Given the description of an element on the screen output the (x, y) to click on. 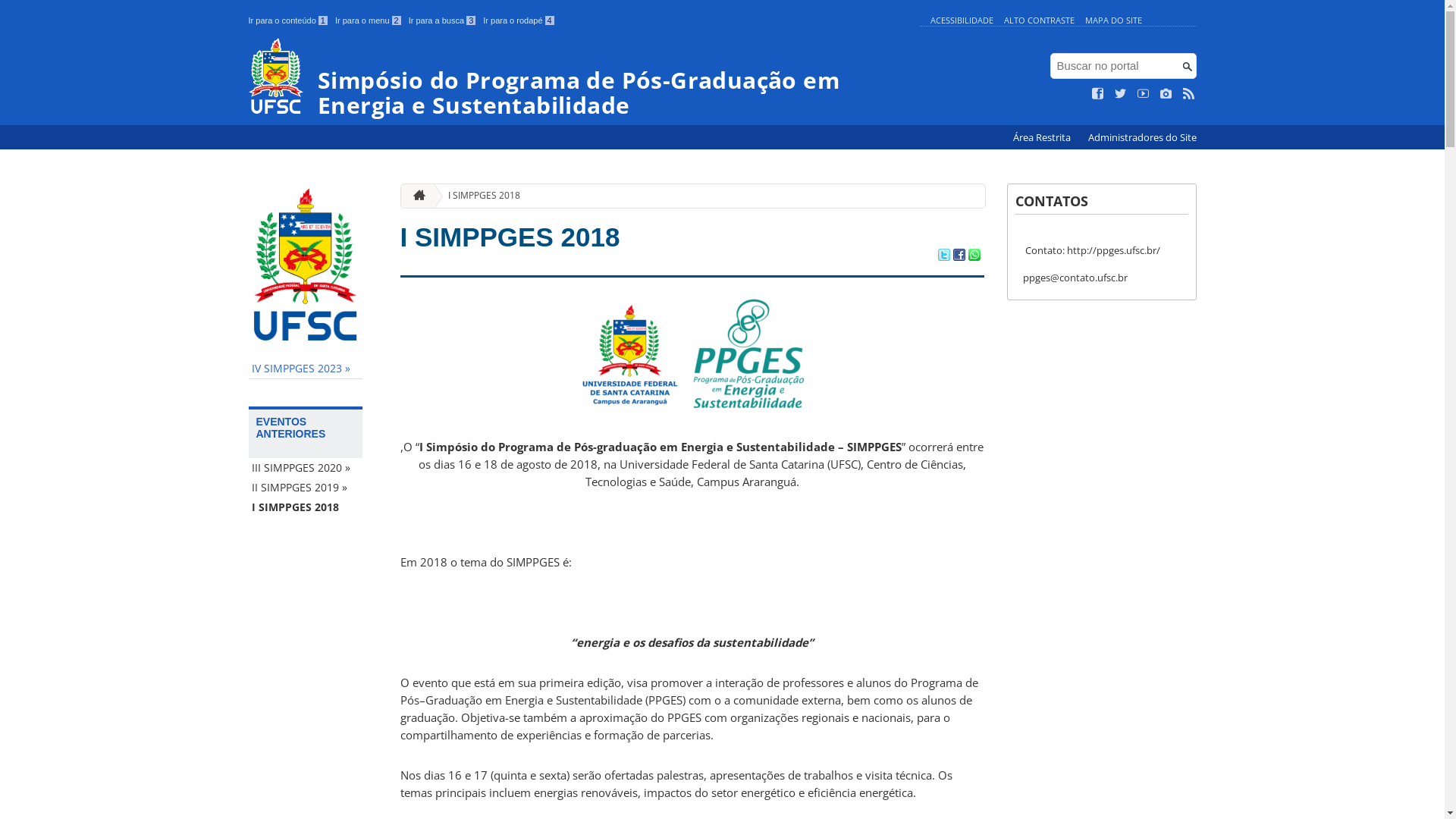
Ir para a busca 3 Element type: text (442, 20)
Veja no Instagram Element type: hover (1166, 93)
I SIMPPGES 2018 Element type: text (305, 507)
MAPA DO SITE Element type: text (1112, 19)
Siga no Twitter Element type: hover (1120, 93)
Compartilhar no Twitter Element type: hover (943, 255)
Compartilhar no Facebook Element type: hover (958, 255)
Compartilhar no WhatsApp Element type: hover (973, 255)
ACESSIBILIDADE Element type: text (960, 19)
I SIMPPGES 2018 Element type: text (477, 195)
Curta no Facebook Element type: hover (1098, 93)
Administradores do Site Element type: text (1141, 137)
I SIMPPGES 2018 Element type: text (510, 236)
ALTO CONTRASTE Element type: text (1039, 19)
Ir para o menu 2 Element type: text (368, 20)
